Given the description of an element on the screen output the (x, y) to click on. 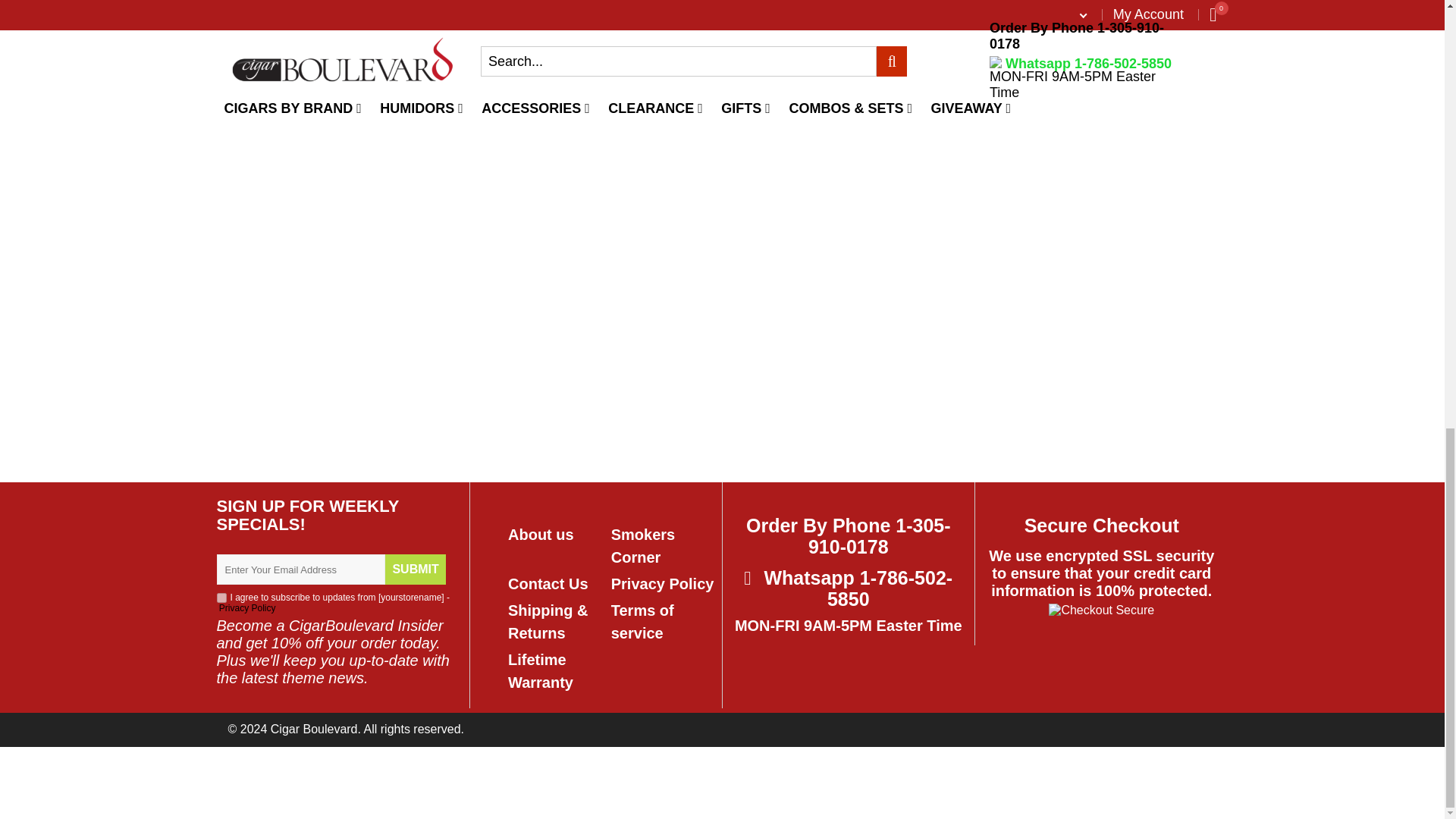
on (221, 597)
